Given the description of an element on the screen output the (x, y) to click on. 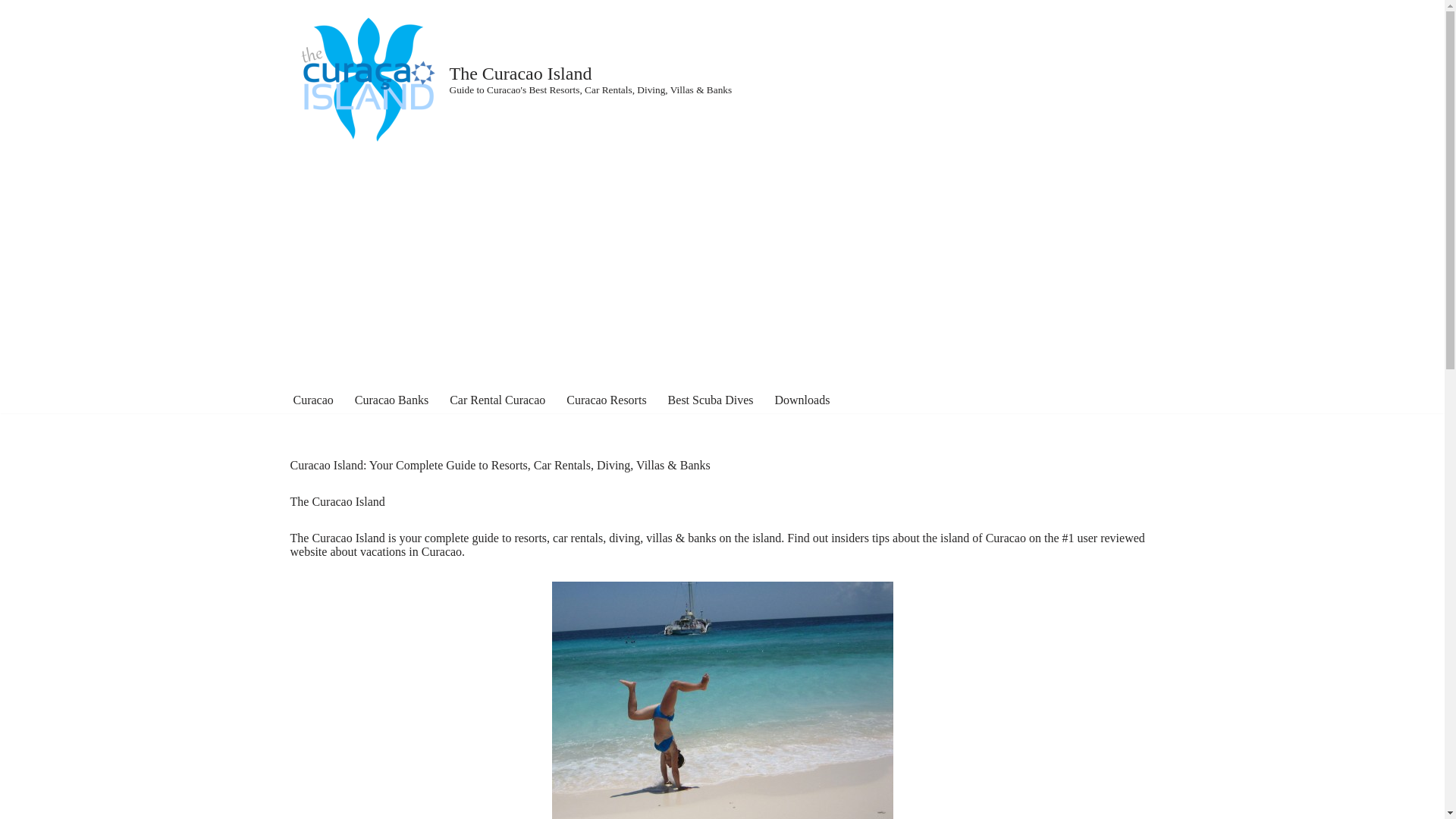
Best Scuba Dives (711, 400)
Car Rental Curacao (496, 400)
Curacao Resorts (606, 400)
Curacao (312, 400)
Downloads (801, 400)
The Curacao Island (722, 700)
Skip to content (11, 31)
Curacao Banks (391, 400)
